Given the description of an element on the screen output the (x, y) to click on. 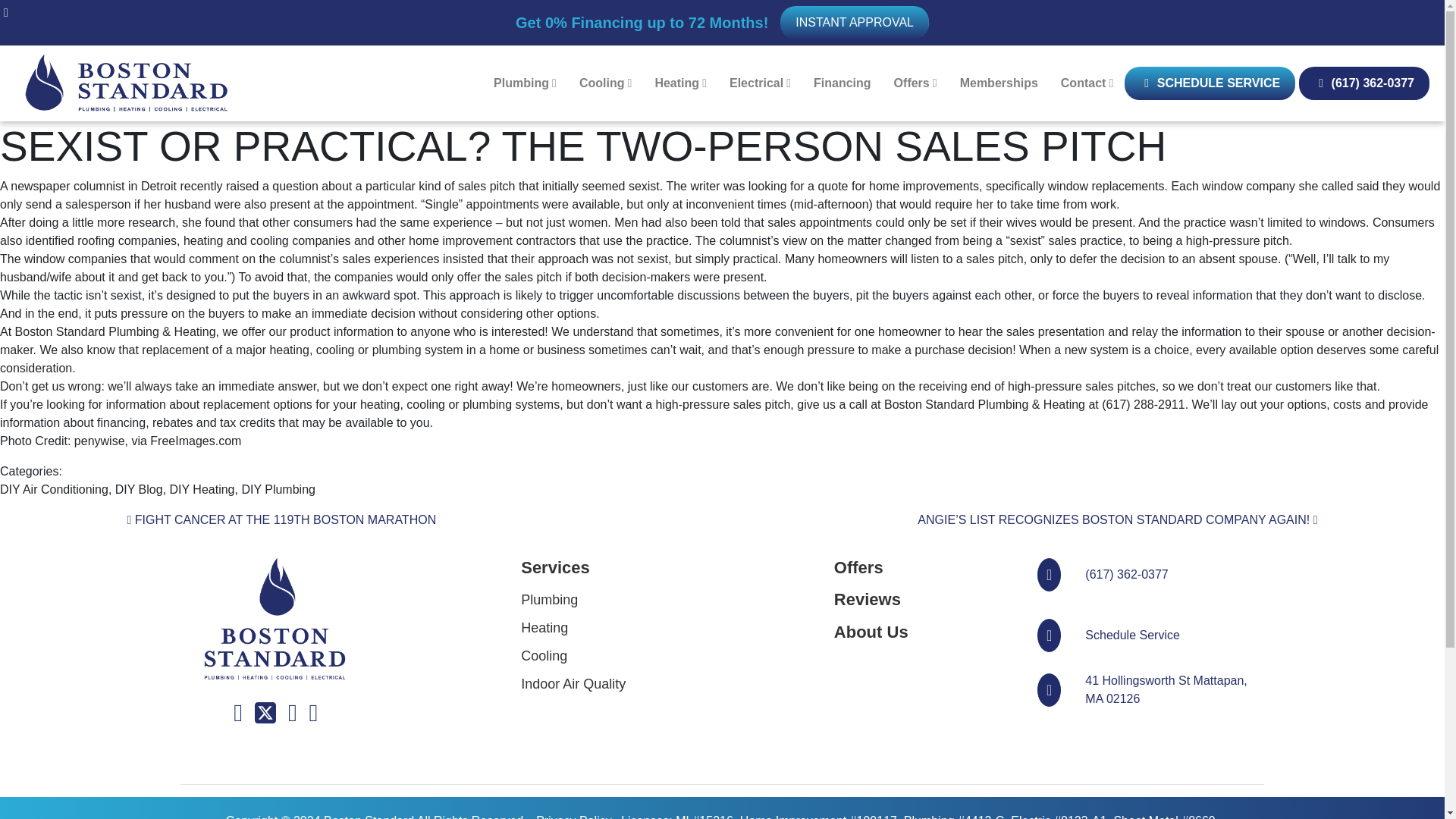
INSTANT APPROVAL (854, 22)
Plumbing (524, 82)
Cooling (605, 82)
Plumbing (524, 82)
